Given the description of an element on the screen output the (x, y) to click on. 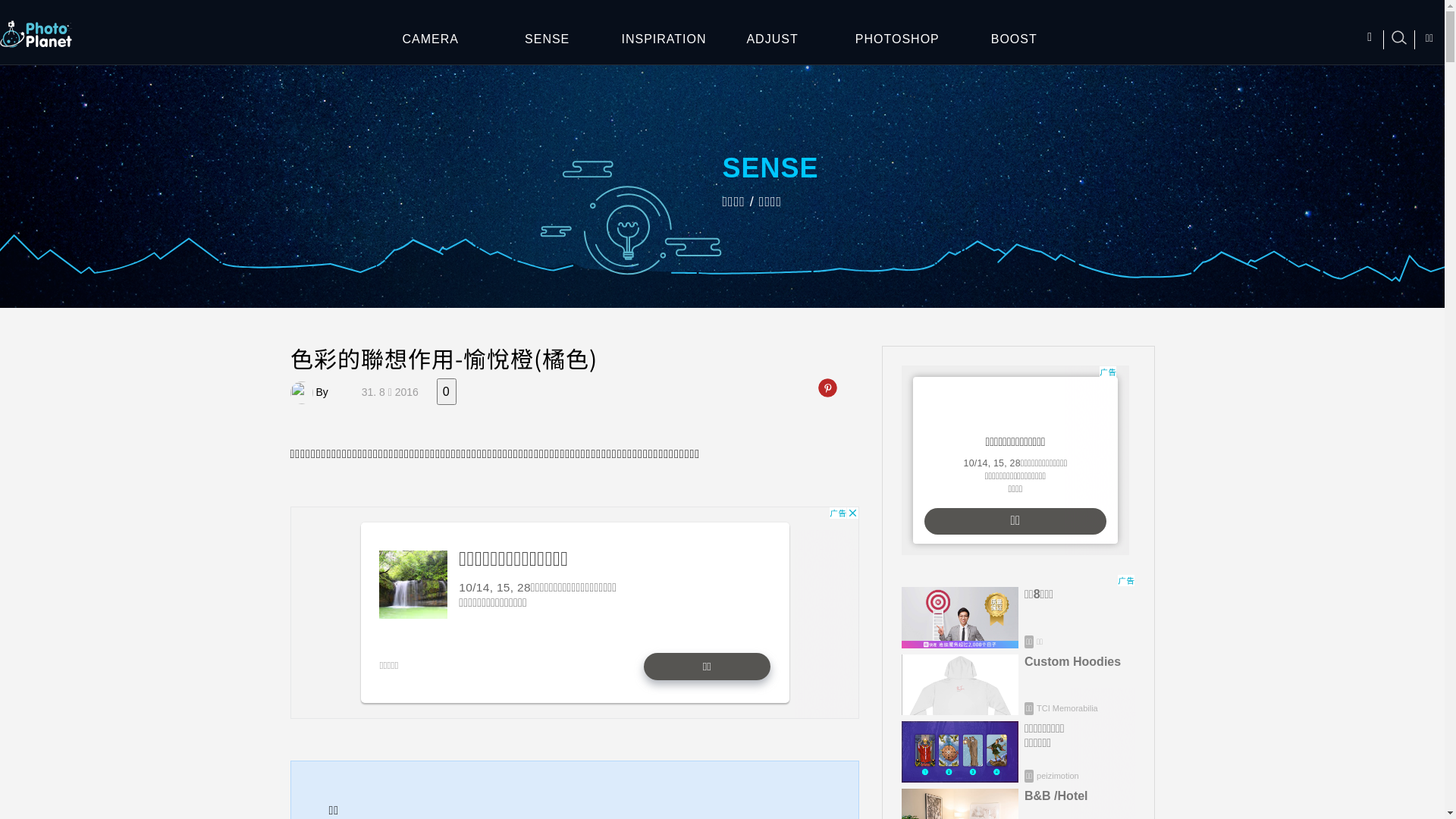
ADJUST Element type: text (802, 36)
BOOST Element type: text (1013, 36)
SENSE Element type: text (547, 36)
Advertisement Element type: hover (573, 612)
INSPIRATION Element type: text (664, 36)
CAMERA Element type: text (430, 36)
Advertisement Element type: hover (1014, 460)
0 Element type: text (446, 391)
PHOTOSHOP Element type: text (896, 36)
